Given the description of an element on the screen output the (x, y) to click on. 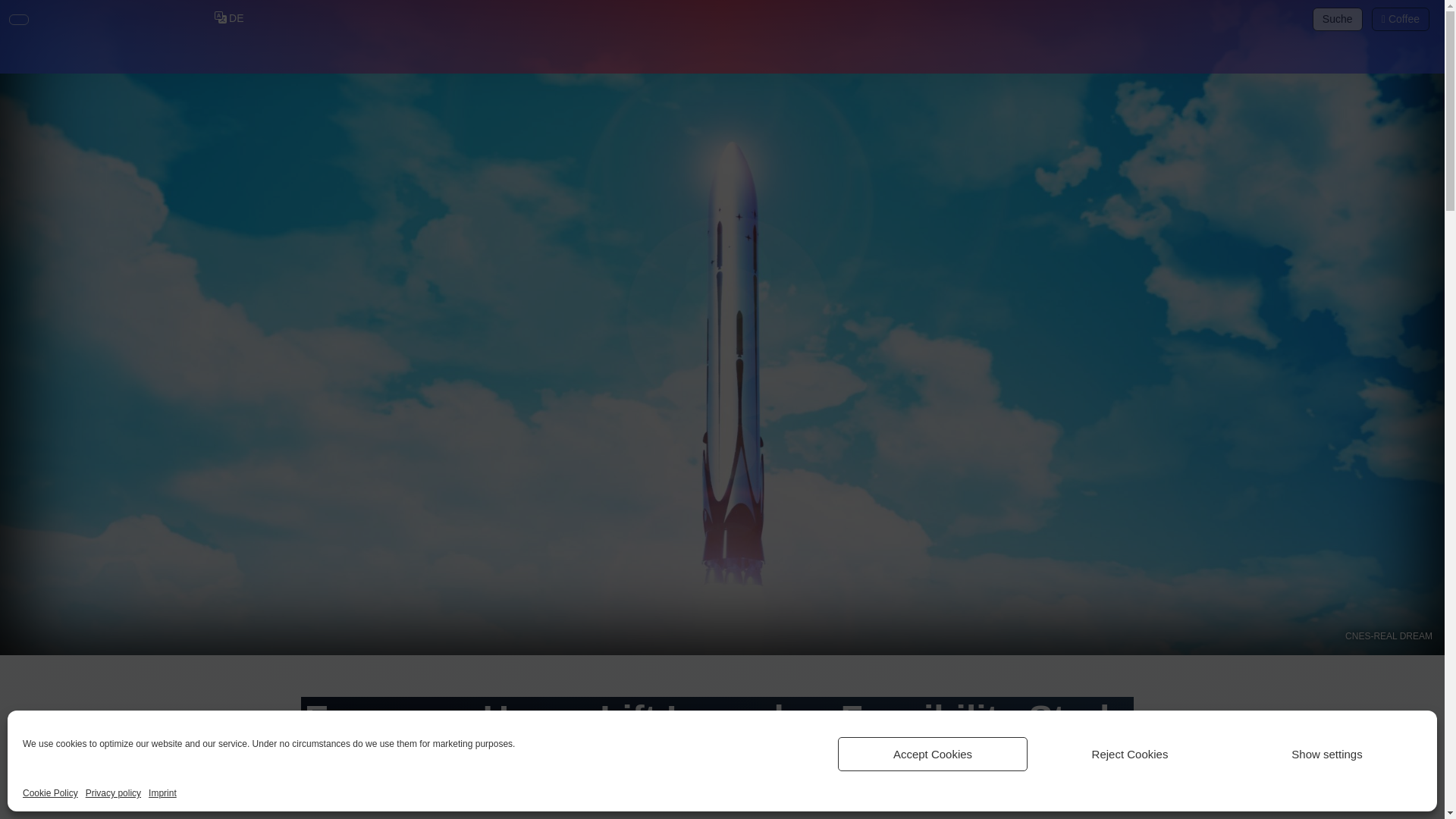
DE (230, 18)
Space News (364, 818)
Coffee (1400, 19)
Imprint (162, 793)
Cookie Policy (50, 793)
Coffee (1400, 18)
Accept Cookies (932, 754)
Show settings (1326, 754)
Suche (1337, 19)
Privacy policy (113, 793)
Reject Cookies (1129, 754)
Suche (1337, 18)
